Given the description of an element on the screen output the (x, y) to click on. 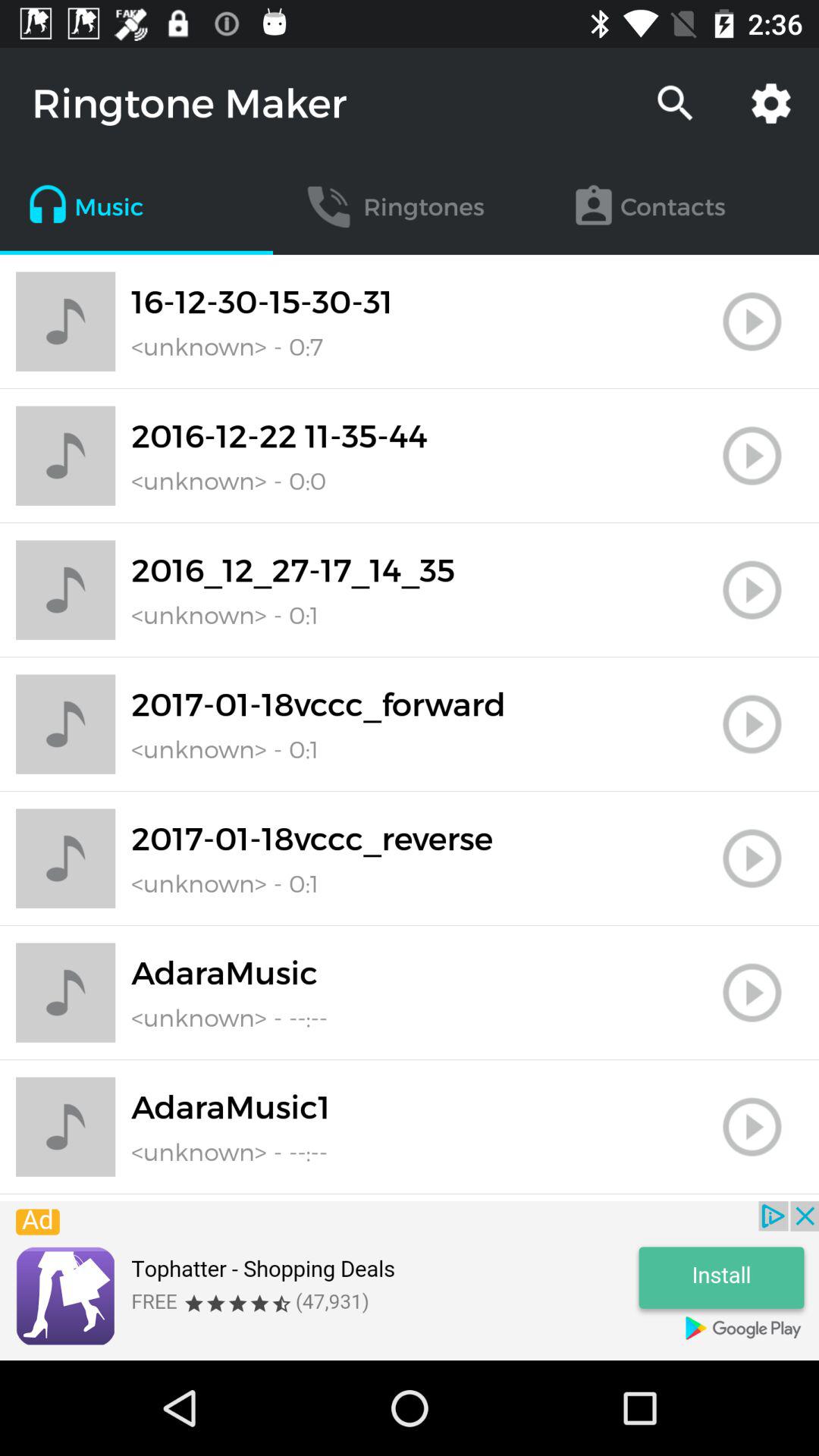
go to next (752, 858)
